Given the description of an element on the screen output the (x, y) to click on. 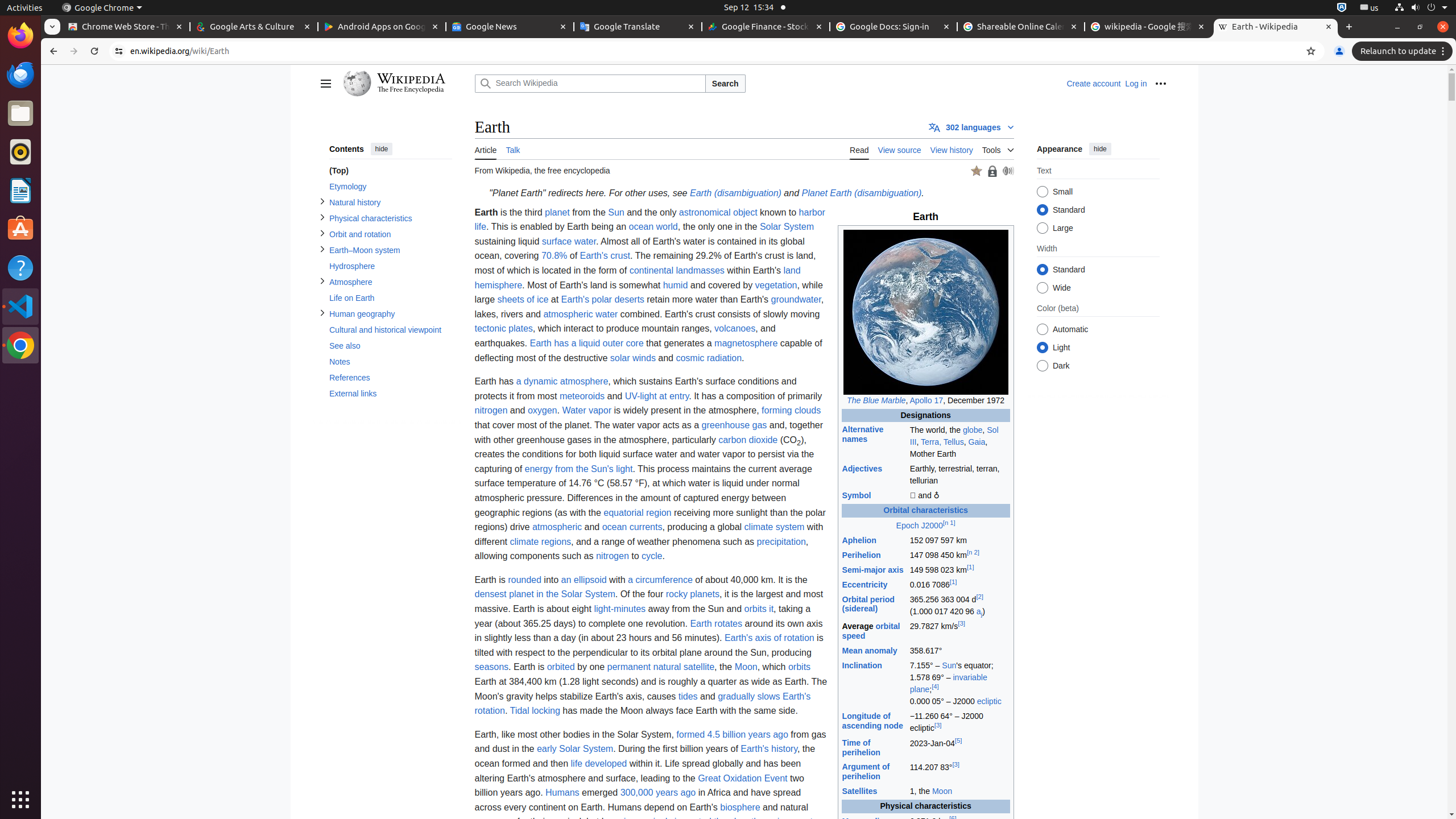
Earth has a liquid outer core Element type: link (586, 342)
Back Element type: push-button (51, 50)
early Solar System Element type: link (574, 748)
Life on Earth Element type: link (390, 298)
globe Element type: link (972, 429)
